Given the description of an element on the screen output the (x, y) to click on. 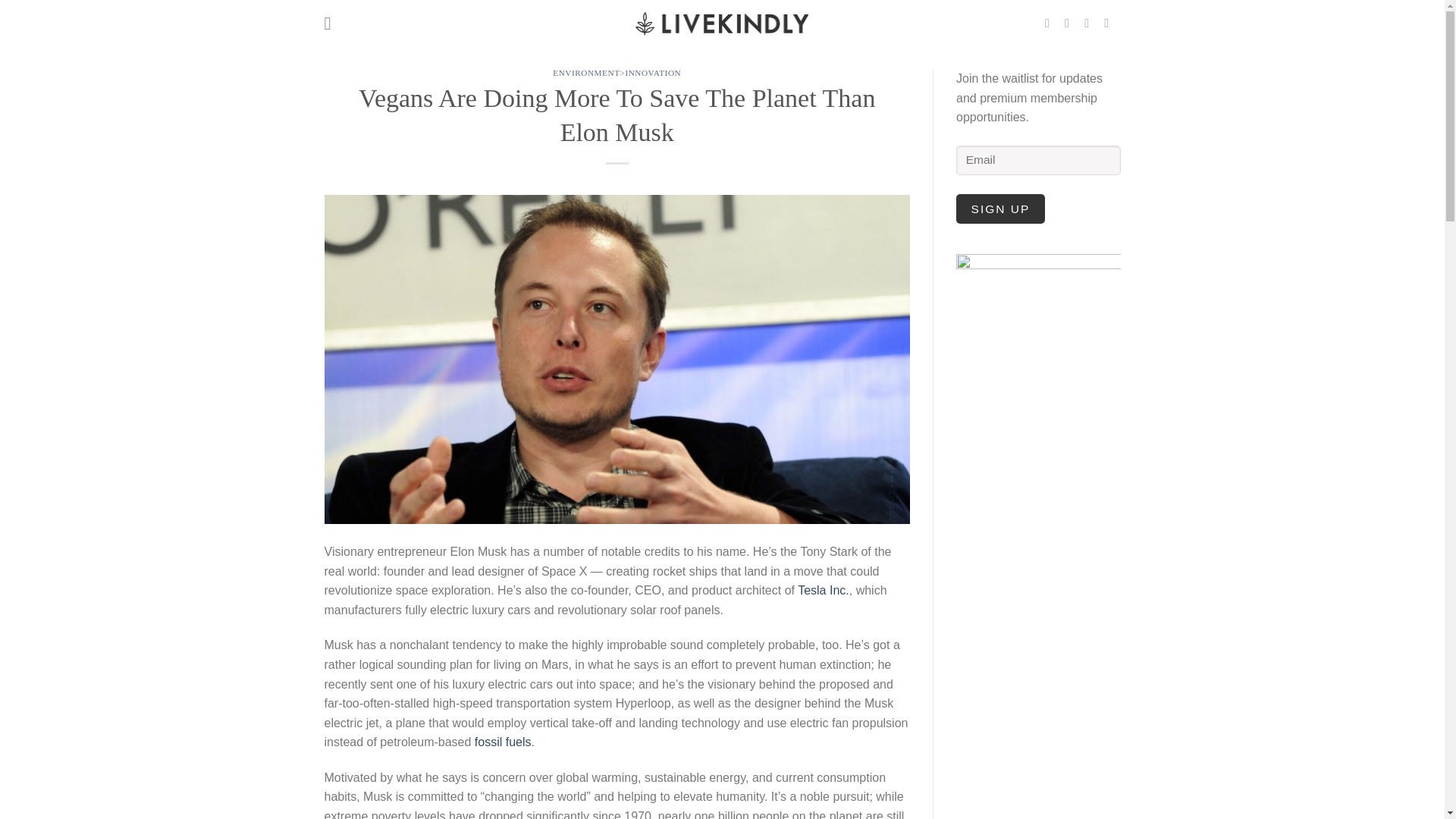
LIVEKINDLY - Home of Sustainable Living (721, 22)
Tesla Inc. (822, 590)
INNOVATION (652, 71)
ENVIRONMENT (586, 71)
Follow on LinkedIn (1109, 22)
SIGN UP (1000, 208)
fossil fuels (502, 741)
Follow on TikTok (1090, 22)
